Given the description of an element on the screen output the (x, y) to click on. 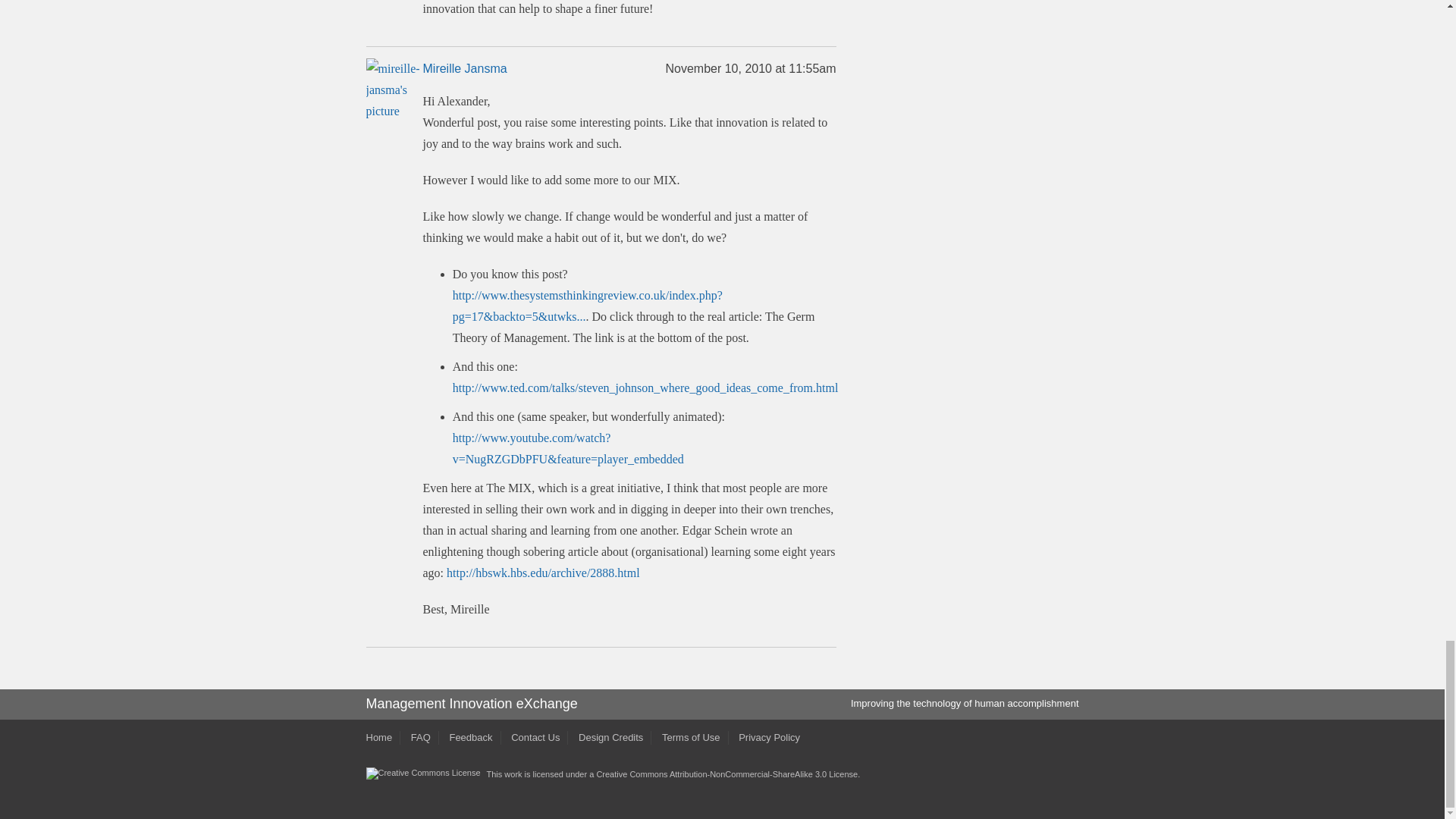
mireille-jansma's picture (393, 90)
